Given the description of an element on the screen output the (x, y) to click on. 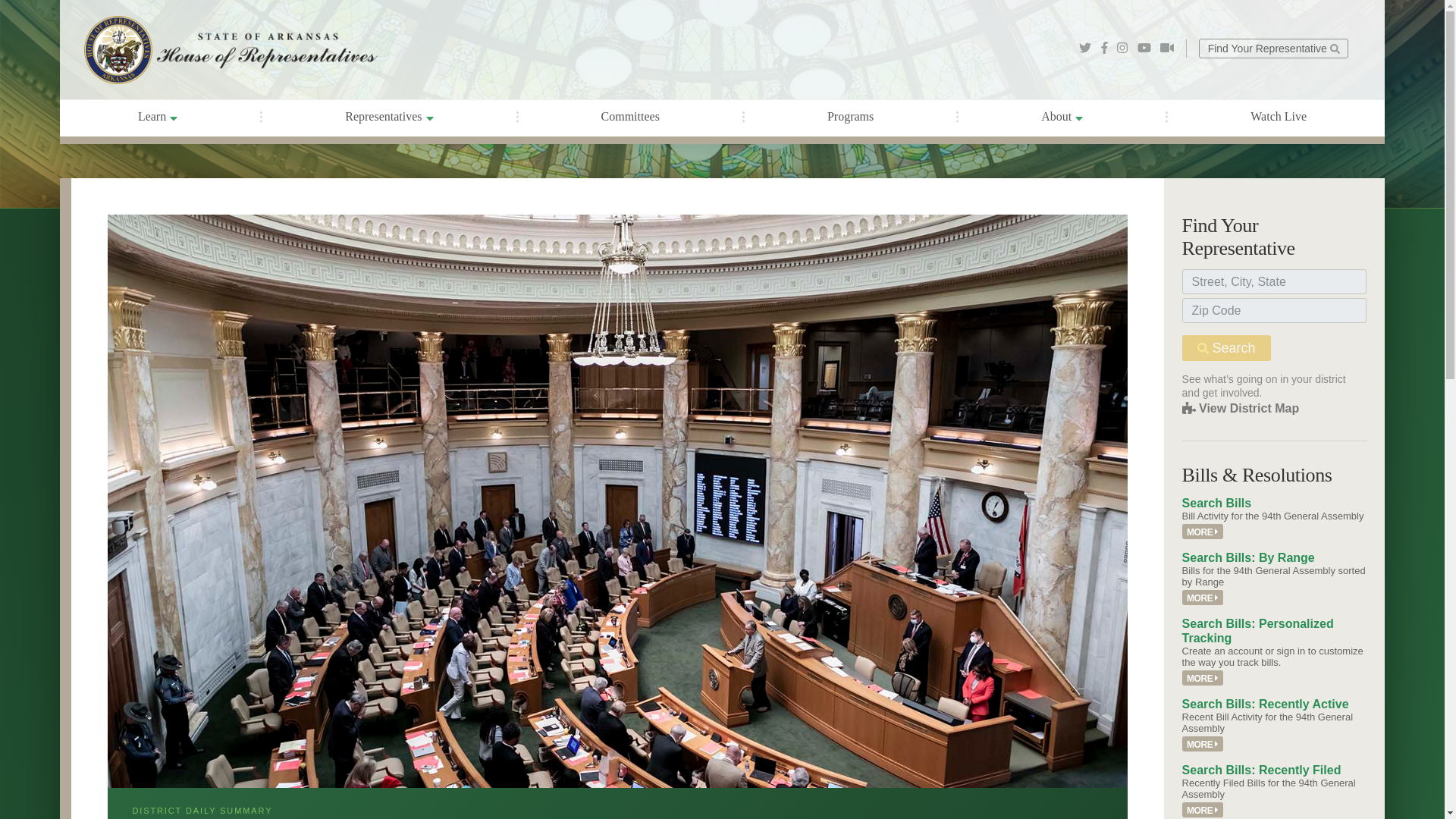
View District Map (1241, 408)
Learn (157, 118)
Programs (850, 117)
Watch Live (1277, 117)
Permalink (1203, 810)
MORE (1203, 678)
Permalink (1203, 531)
Permalink (1203, 678)
Find Your Representative (1273, 47)
MORE (1203, 531)
